Given the description of an element on the screen output the (x, y) to click on. 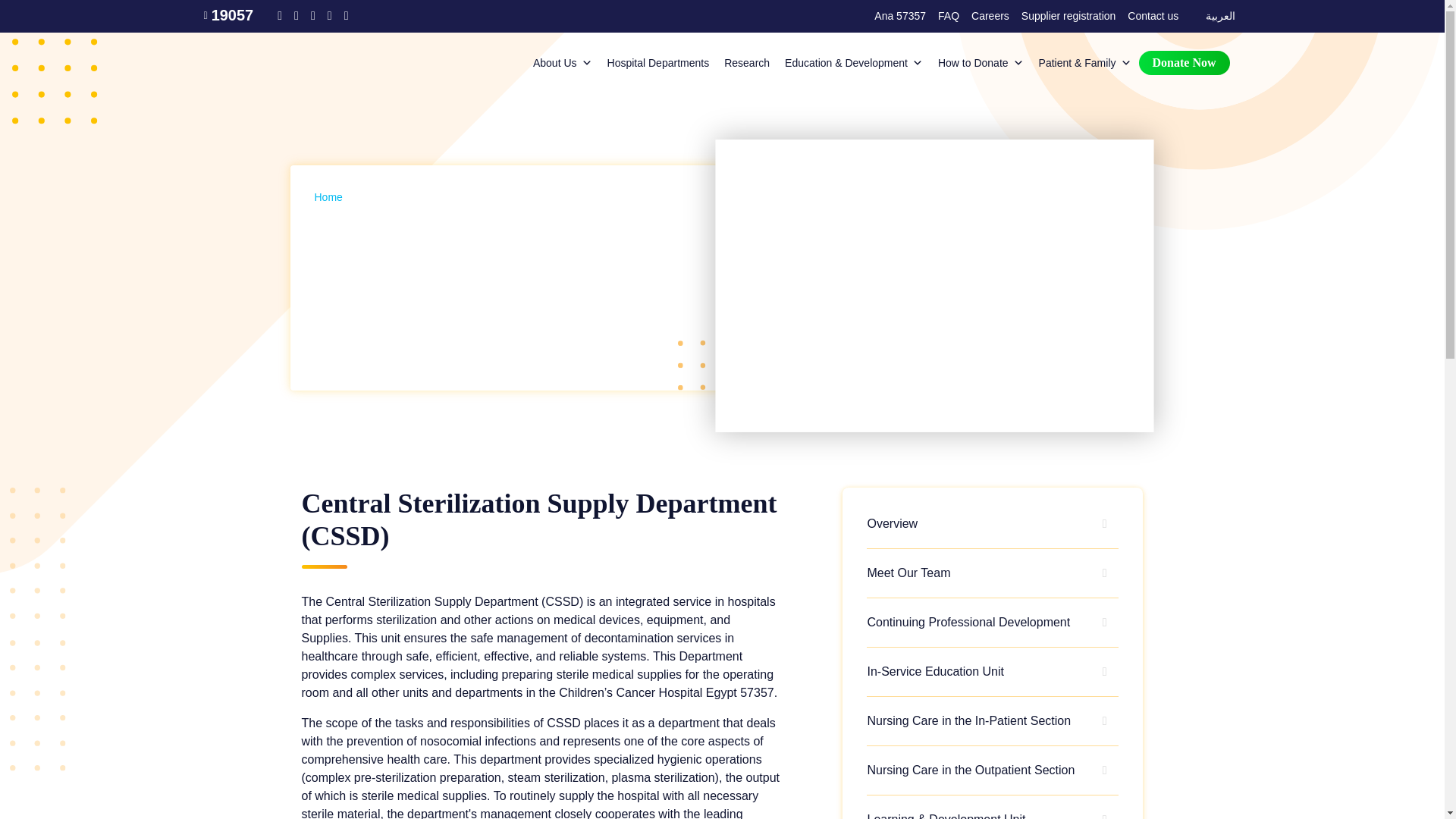
Contact us (1153, 16)
Hospital Departments (658, 62)
FAQ (948, 16)
Research (746, 62)
Supplier registration (1068, 16)
How to Donate (980, 62)
Ana 57357 (899, 16)
About Us (562, 62)
Careers (989, 16)
